Given the description of an element on the screen output the (x, y) to click on. 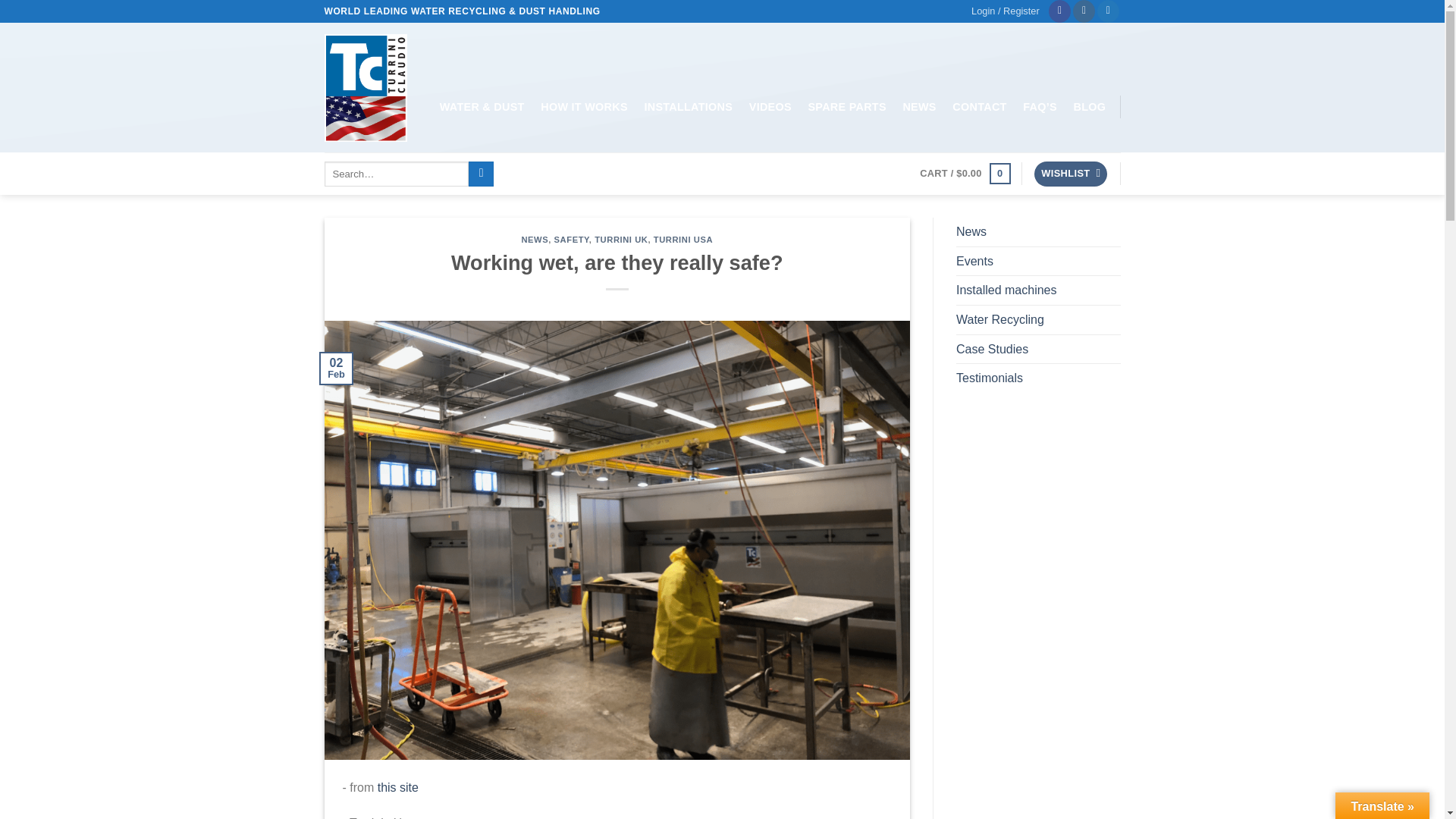
NEWS (534, 239)
CONTACT (979, 106)
this site (398, 787)
Login (1005, 11)
TURRINI UK (620, 239)
Follow on Facebook (1059, 11)
Follow on Twitter (1108, 11)
NEWS (919, 106)
HOW IT WORKS (583, 106)
Cart (965, 173)
VIDEOS (770, 106)
Wishlist (1069, 173)
TURRINI USA (683, 239)
SAFETY (571, 239)
Search (480, 174)
